Given the description of an element on the screen output the (x, y) to click on. 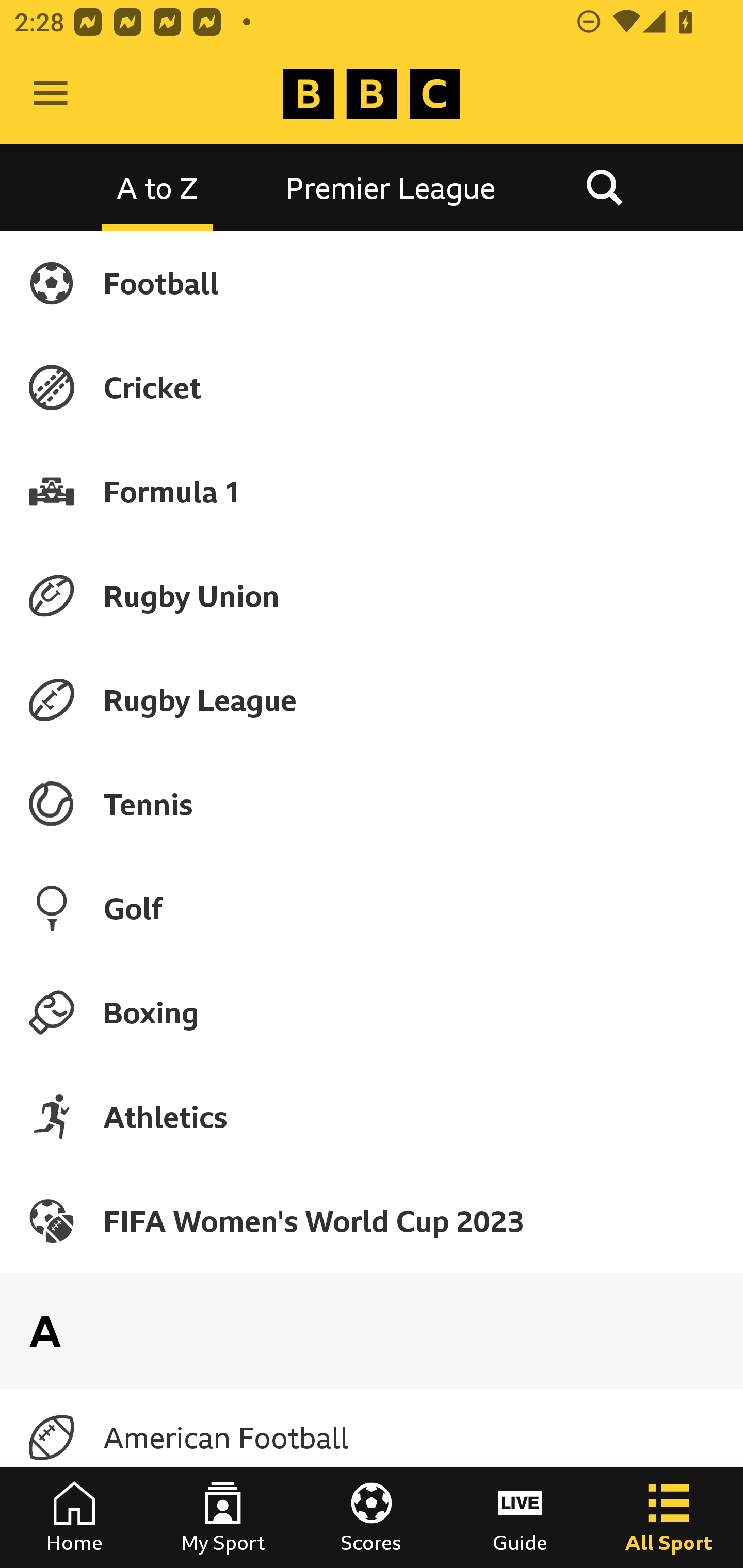
Open Menu (50, 93)
Premier League (390, 187)
Search (604, 187)
Football (371, 282)
Cricket (371, 387)
Formula 1 (371, 491)
Rugby Union (371, 595)
Rugby League (371, 699)
Tennis (371, 804)
Golf (371, 907)
Boxing (371, 1011)
Athletics (371, 1116)
FIFA Women's World Cup 2023 (371, 1220)
American Football (371, 1437)
Home (74, 1517)
My Sport (222, 1517)
Scores (371, 1517)
Guide (519, 1517)
